Given the description of an element on the screen output the (x, y) to click on. 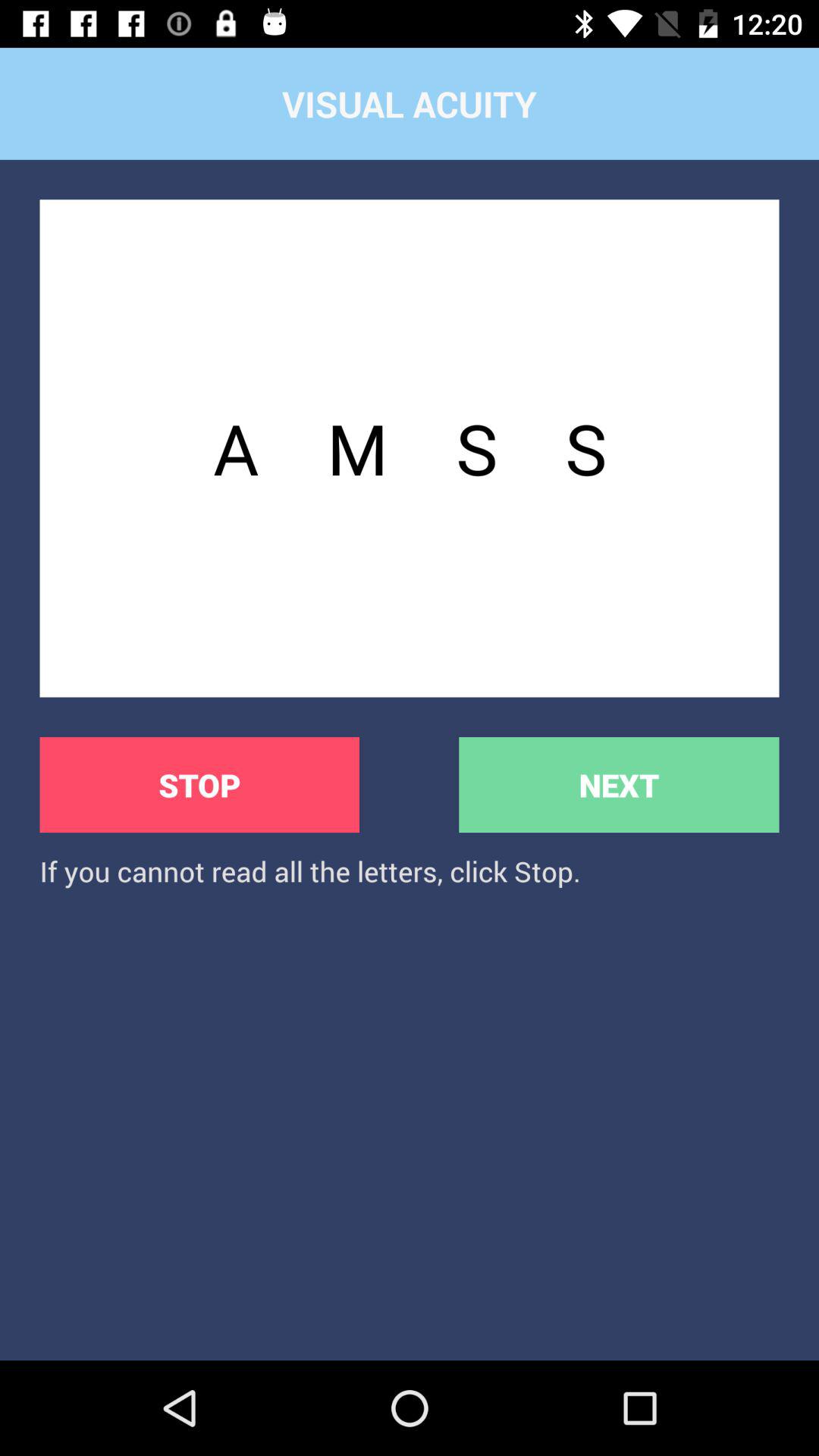
jump until next item (618, 784)
